Given the description of an element on the screen output the (x, y) to click on. 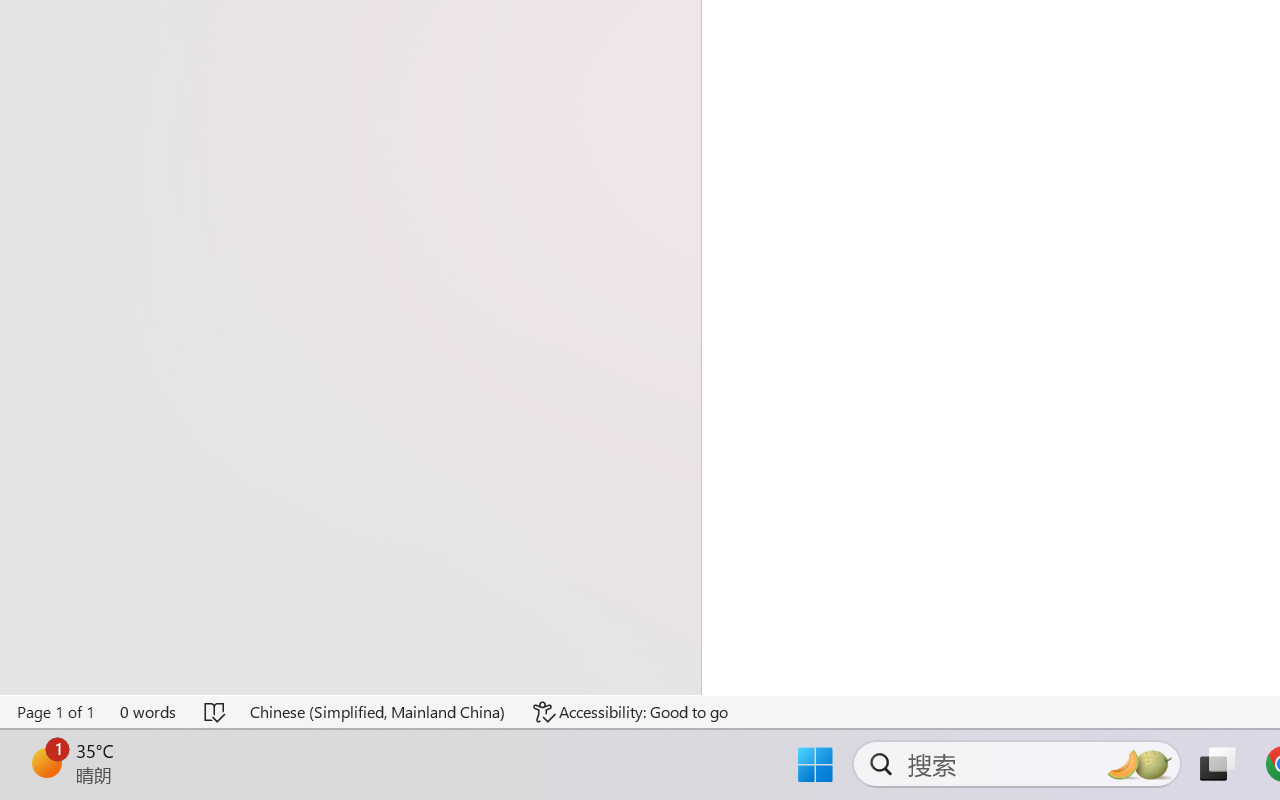
Language Chinese (Simplified, Mainland China) (378, 712)
